Given the description of an element on the screen output the (x, y) to click on. 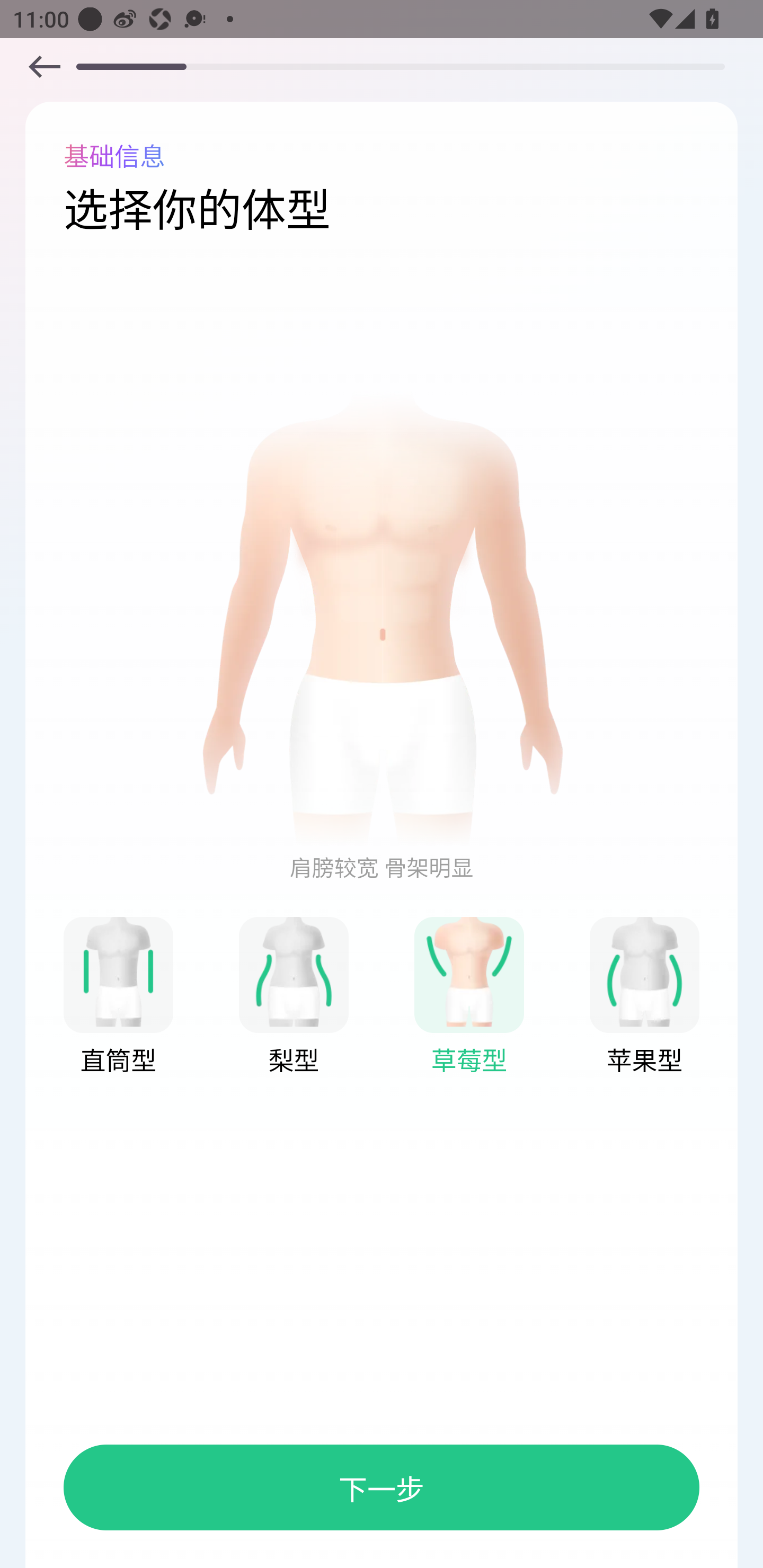
1 (44, 66)
1 (381, 618)
1   1 直筒型 (118, 996)
1 (118, 971)
1   1 梨型 (293, 996)
1 (293, 971)
1   1 草莓型 (468, 996)
1 (468, 971)
1   1 苹果型 (644, 996)
1 (644, 971)
下一步 (381, 1487)
